Given the description of an element on the screen output the (x, y) to click on. 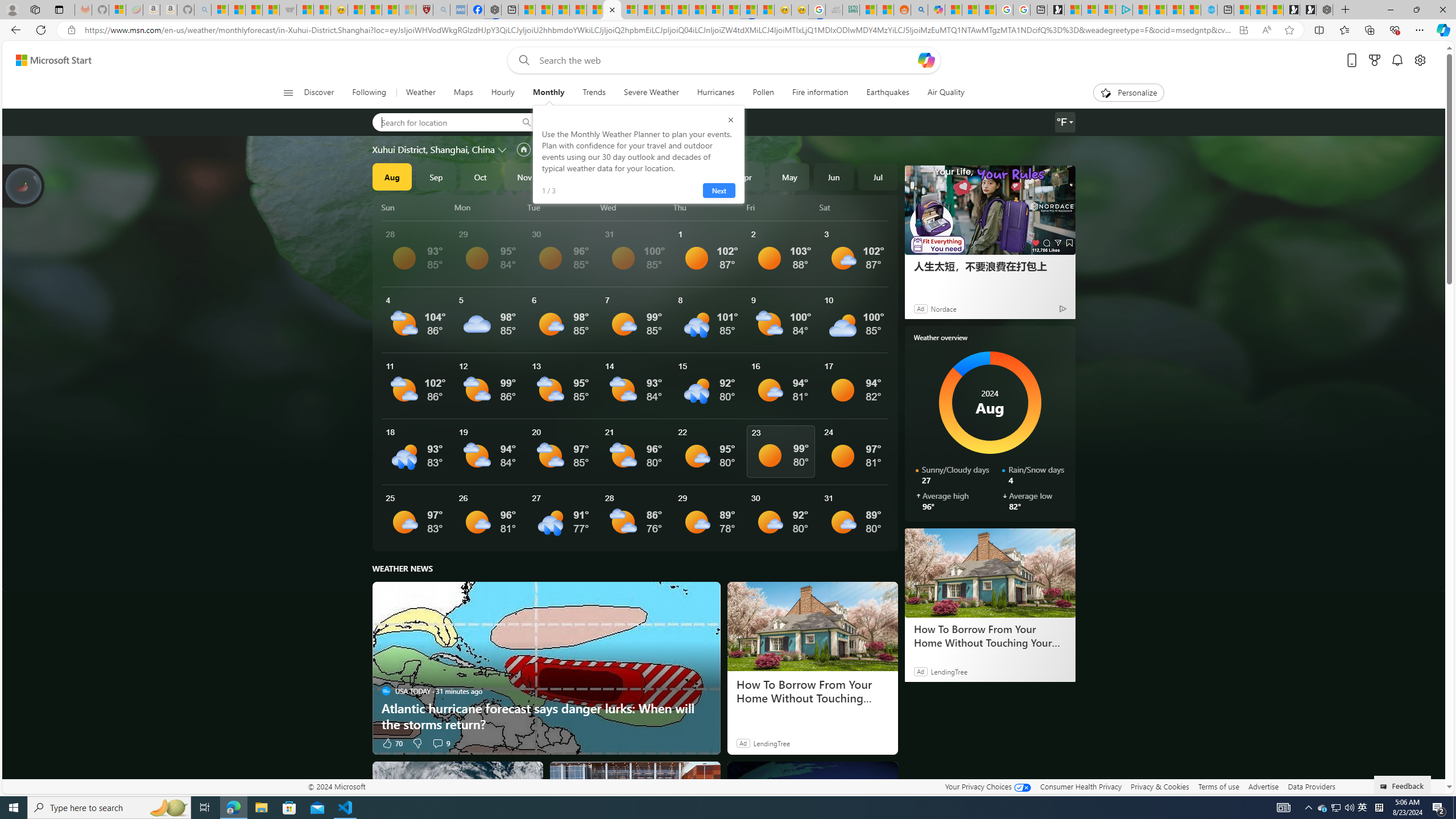
Hurricanes (715, 92)
Combat Siege (288, 9)
